Given the description of an element on the screen output the (x, y) to click on. 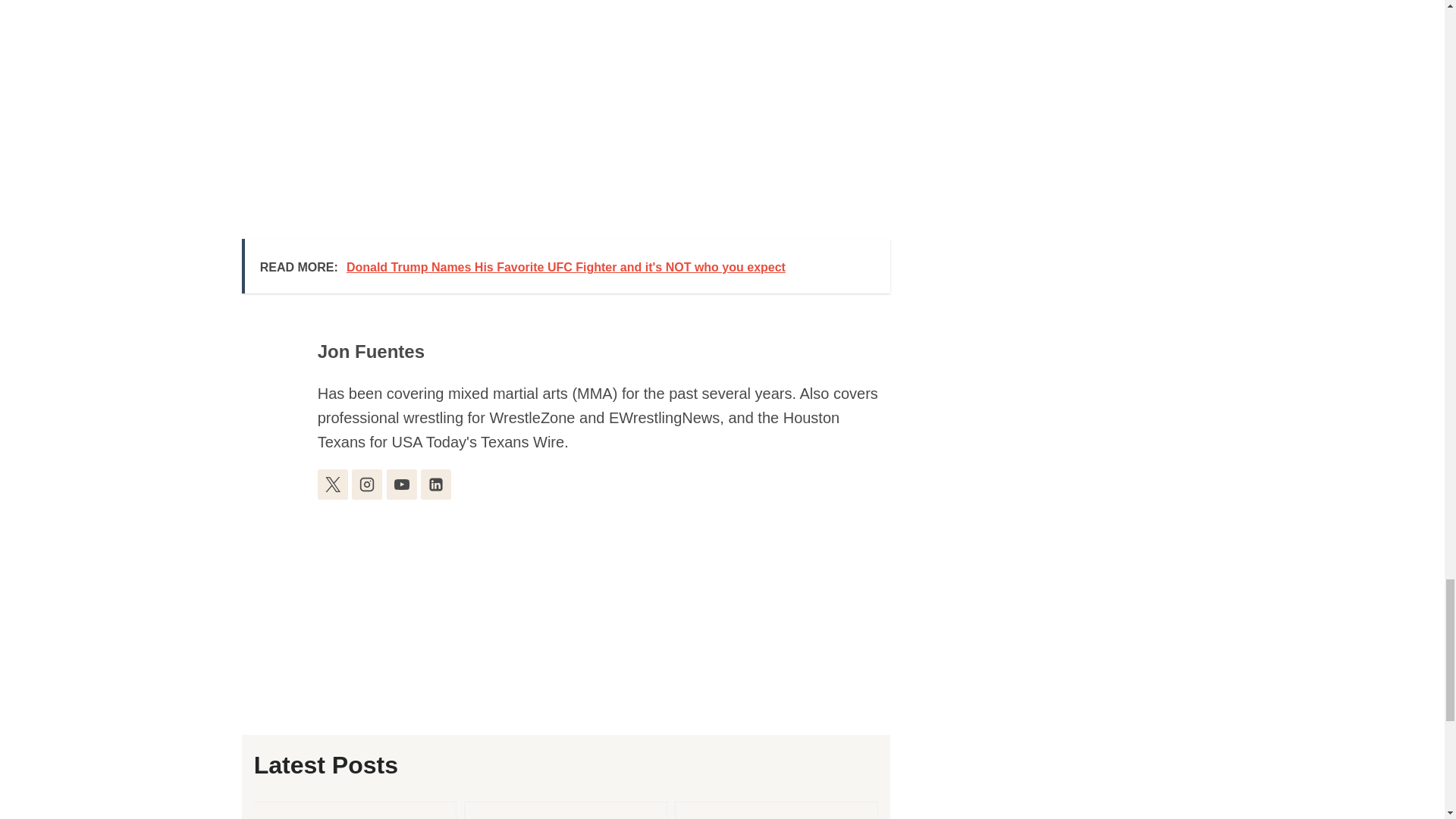
Follow Jon Fuentes on Youtube (401, 484)
Posts by Jon Fuentes (371, 351)
Follow Jon Fuentes on Instagram (366, 484)
Follow Jon Fuentes on X formerly Twitter (332, 484)
Follow Jon Fuentes on Linkedin (435, 484)
